Given the description of an element on the screen output the (x, y) to click on. 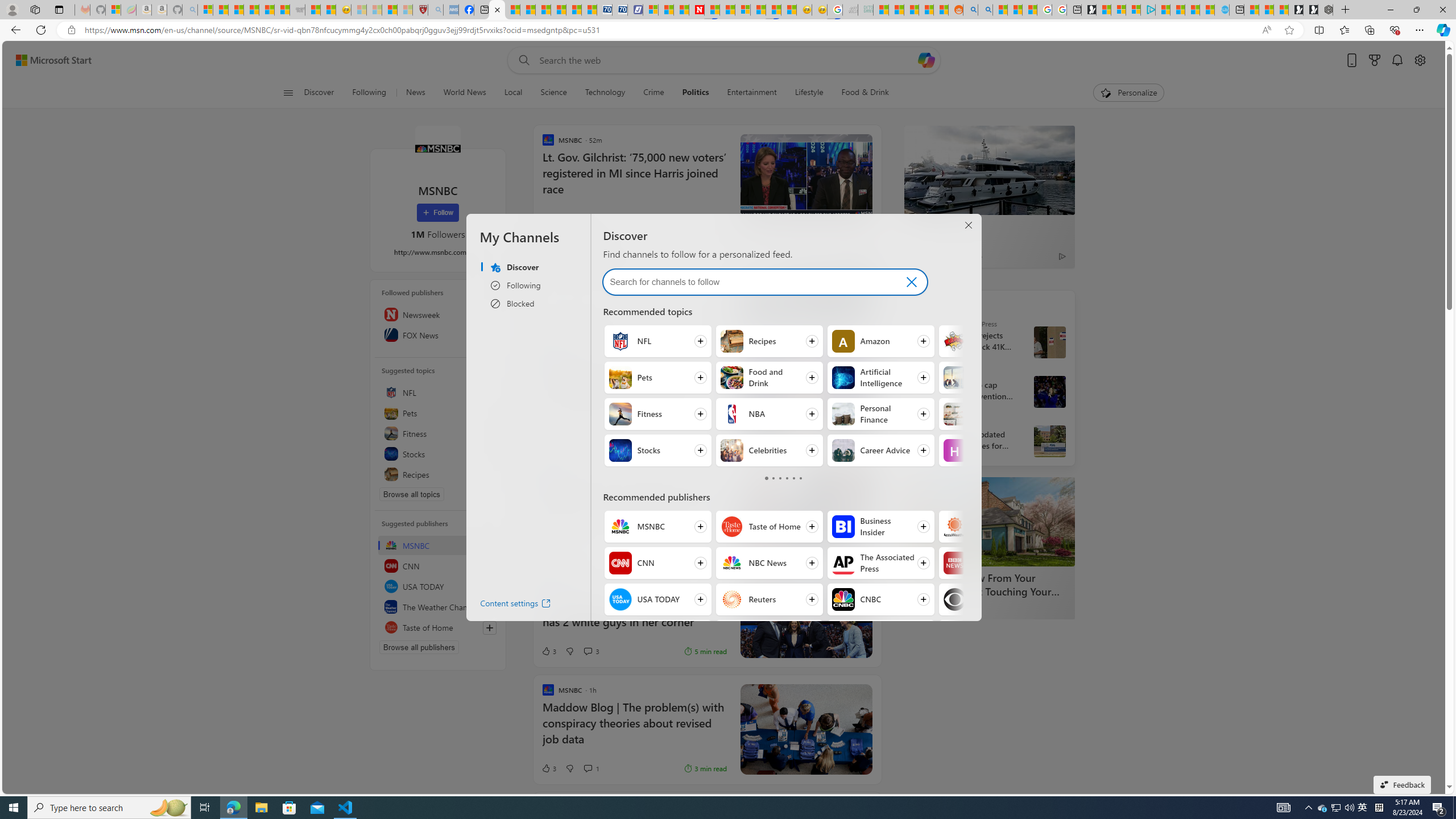
News (415, 92)
Business (954, 377)
Follow CBS News (992, 599)
Stocks (437, 453)
Fix Boat Bliss (575, 274)
Dislike (569, 768)
Follow ABC News (768, 635)
Class: button-glyph (287, 92)
Follow Food and Drink (768, 377)
